Given the description of an element on the screen output the (x, y) to click on. 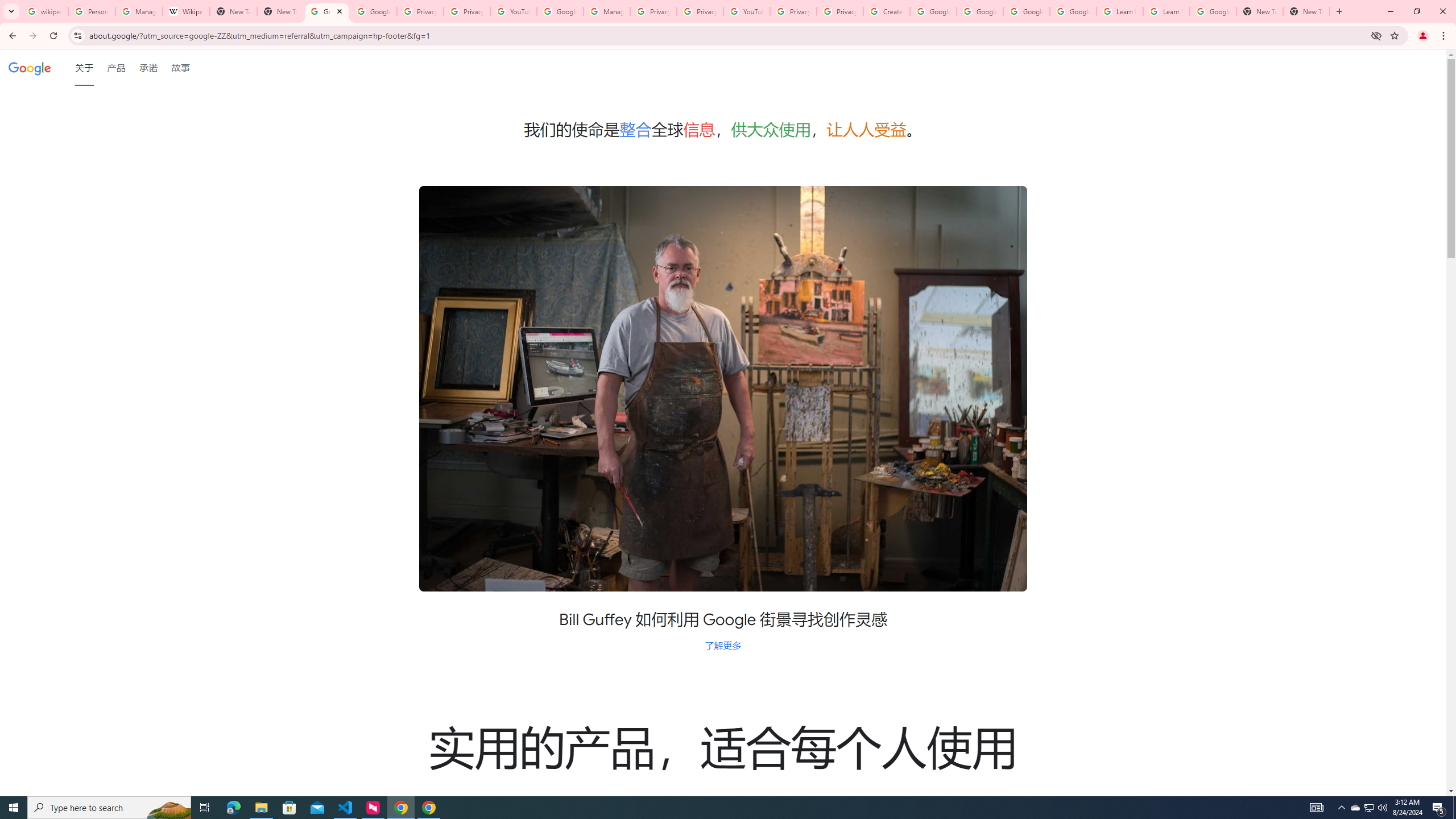
Reload (52, 35)
You (1422, 35)
Google Account Help (559, 11)
New Tab (1259, 11)
Google Account (1213, 11)
Personalization & Google Search results - Google Search Help (91, 11)
View site information (77, 35)
Forward (32, 35)
